Given the description of an element on the screen output the (x, y) to click on. 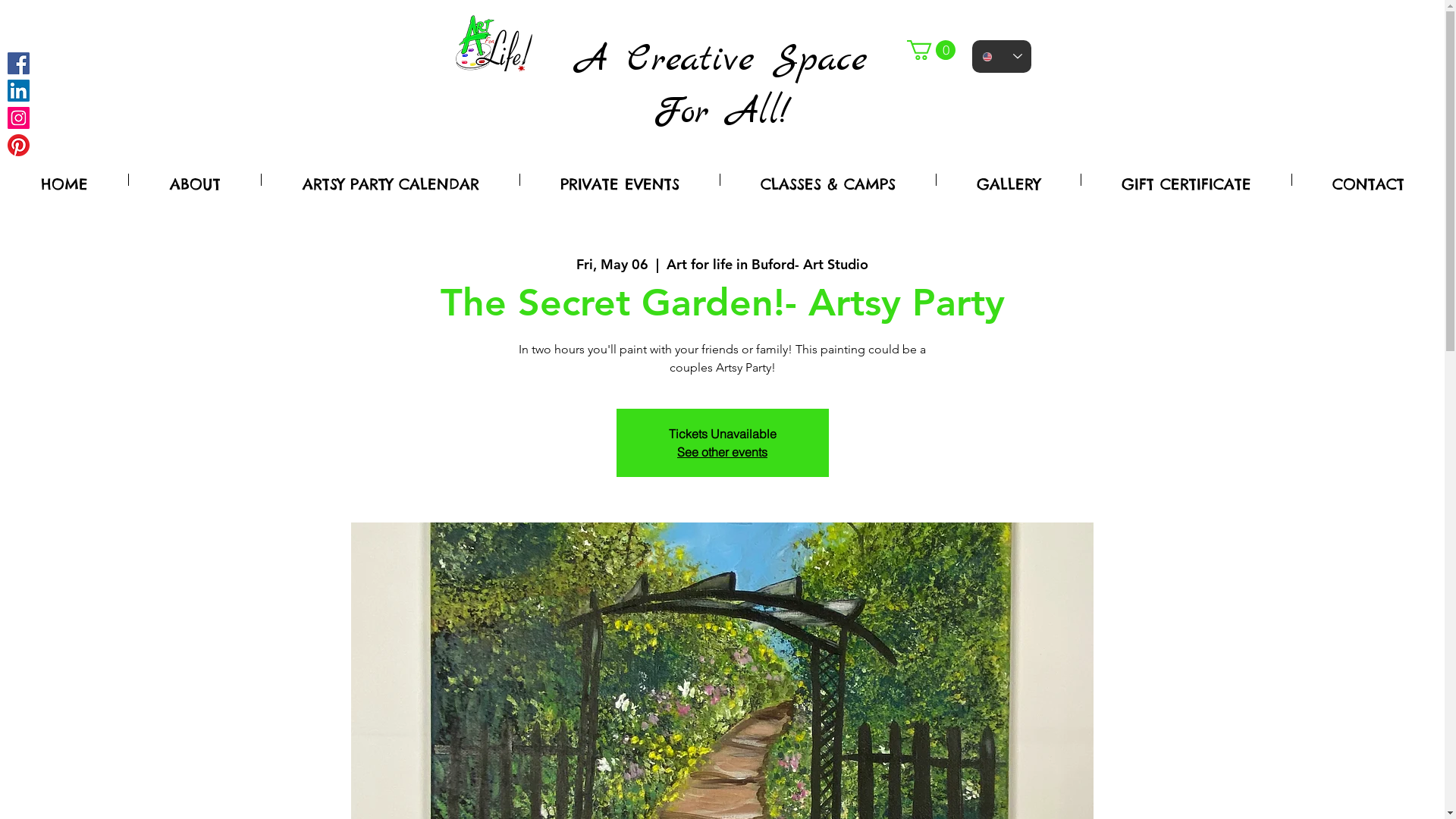
0 Element type: text (930, 49)
ABOUT Element type: text (194, 179)
GALLERY Element type: text (1008, 179)
ARTSY PARTY CALENDAR Element type: text (390, 179)
CLASSES & CAMPS Element type: text (827, 179)
See other events Element type: text (722, 451)
GIFT CERTIFICATE Element type: text (1186, 179)
HOME Element type: text (64, 179)
PRIVATE EVENTS Element type: text (619, 179)
CONTACT Element type: text (1368, 179)
